Given the description of an element on the screen output the (x, y) to click on. 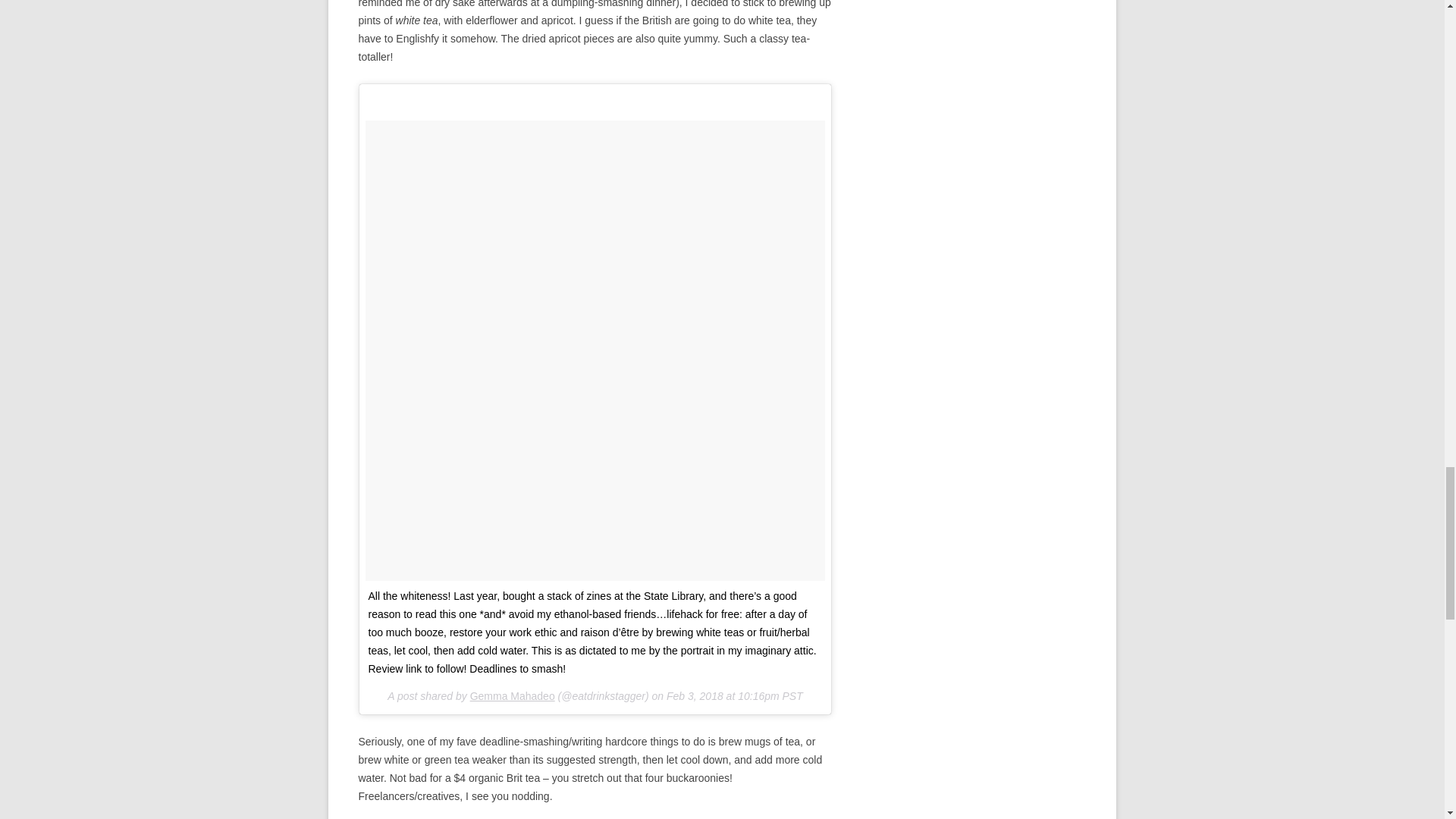
Gemma Mahadeo (512, 695)
